Given the description of an element on the screen output the (x, y) to click on. 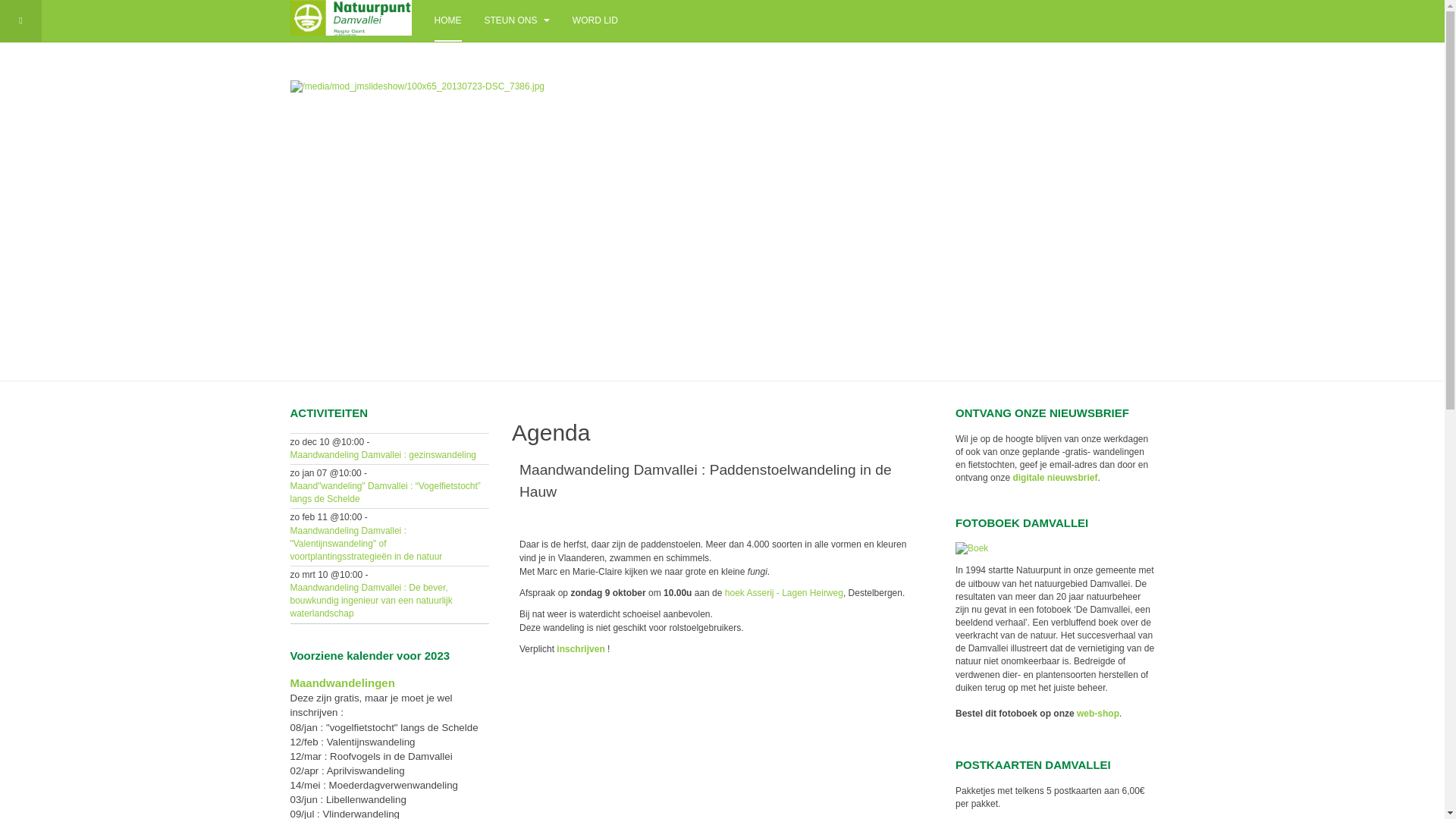
Damvallei Element type: hover (350, 17)
web-shop Element type: text (1097, 713)
HOME Element type: text (447, 20)
digitale nieuwsbrief Element type: text (1054, 477)
WORD LID Element type: text (595, 20)
inschrijven Element type: text (580, 648)
Maandwandeling Damvallei : gezinswandeling Element type: text (382, 454)
/media/mod_jmslideshow/100x65_20130723-DSC_7386.jpg Element type: hover (416, 86)
hoek Asserij - Lagen Heirweg Element type: text (781, 592)
STEUN ONS Element type: text (516, 20)
